Given the description of an element on the screen output the (x, y) to click on. 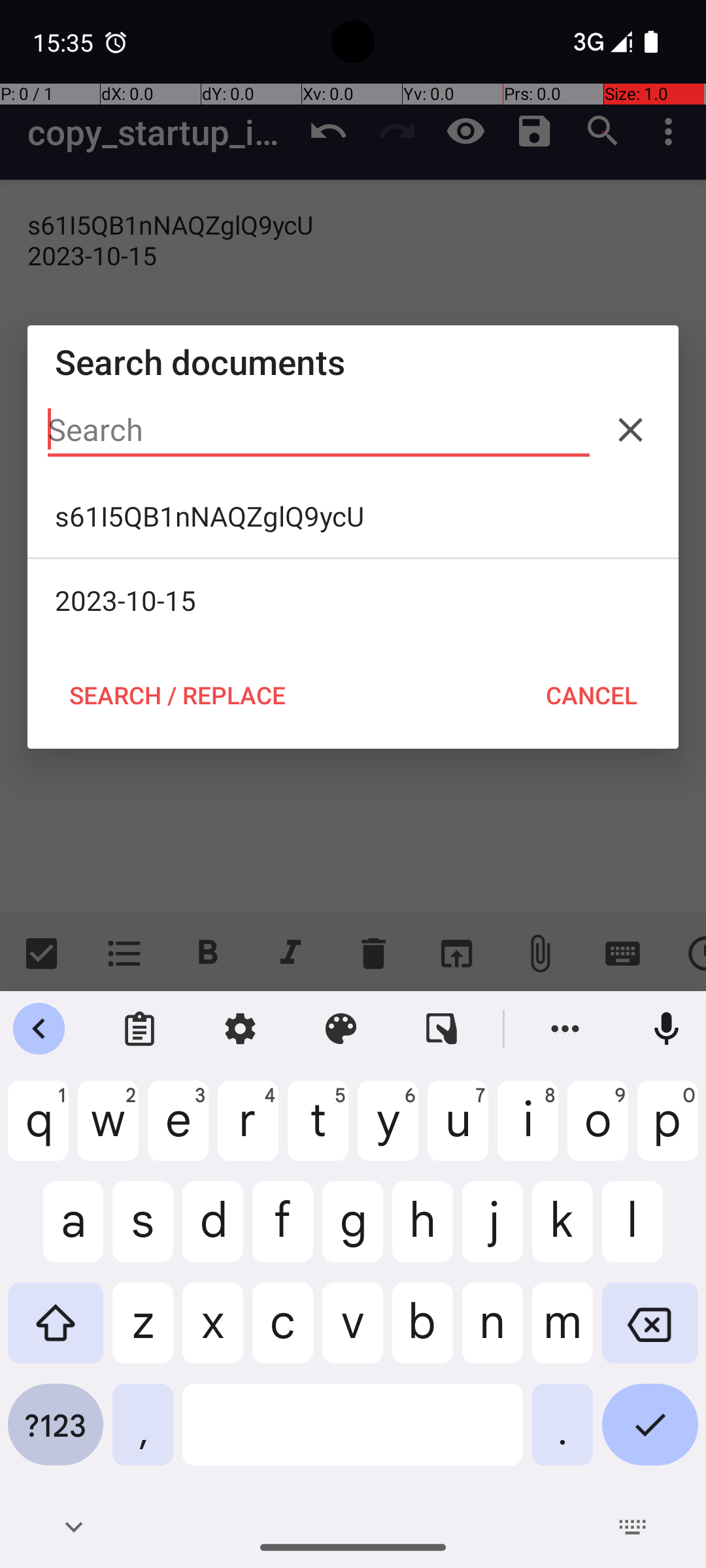
s61I5QB1nNAQZglQ9ycU Element type: android.widget.TextView (352, 515)
2023-10-15 Element type: android.widget.TextView (352, 600)
